Given the description of an element on the screen output the (x, y) to click on. 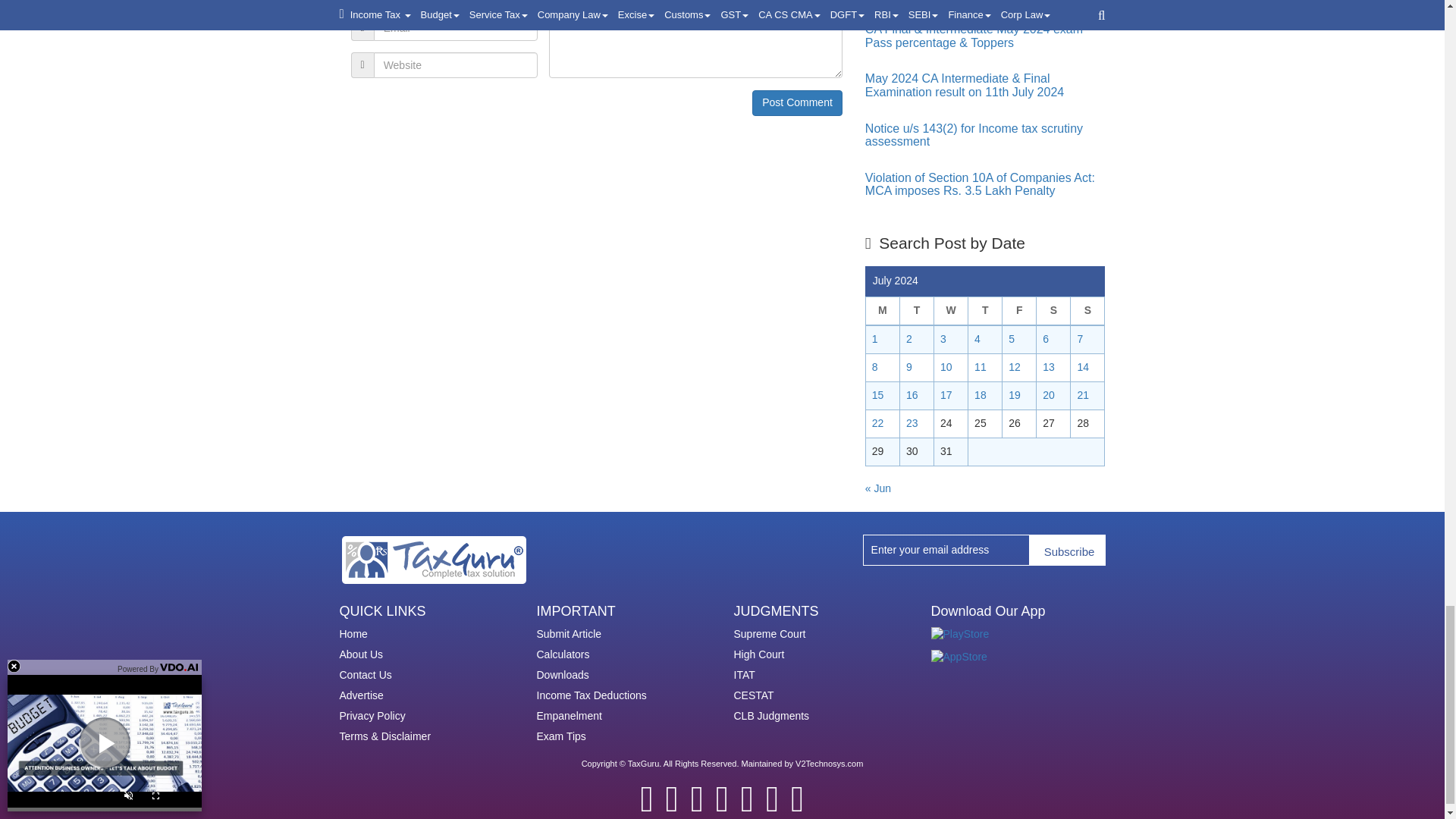
Subscribe (1067, 549)
